Given the description of an element on the screen output the (x, y) to click on. 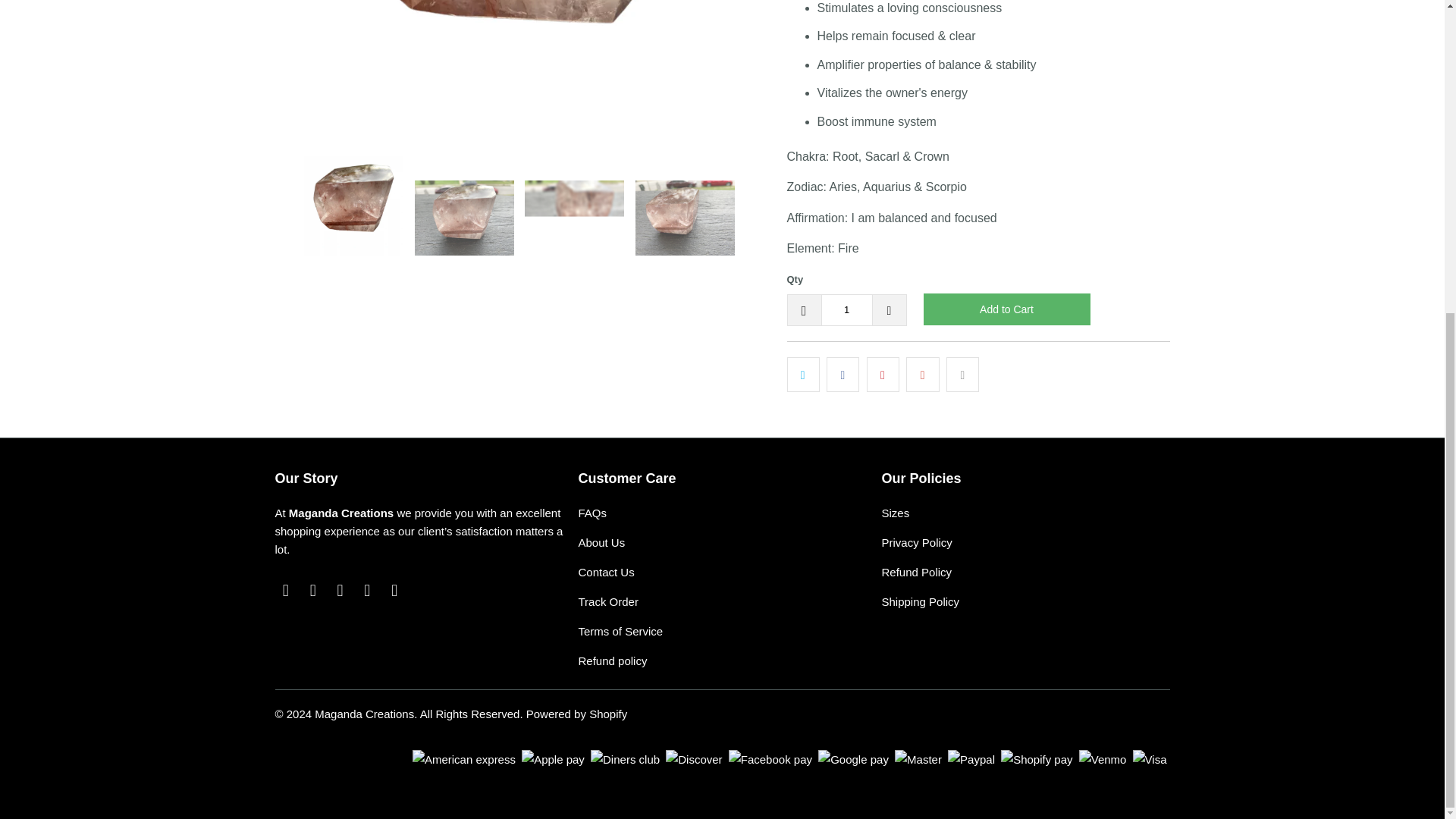
Email this to a friend (962, 374)
Share this on Twitter (803, 374)
Share this on Facebook (843, 374)
1 (846, 309)
Share this on Pinterest (882, 374)
